Given the description of an element on the screen output the (x, y) to click on. 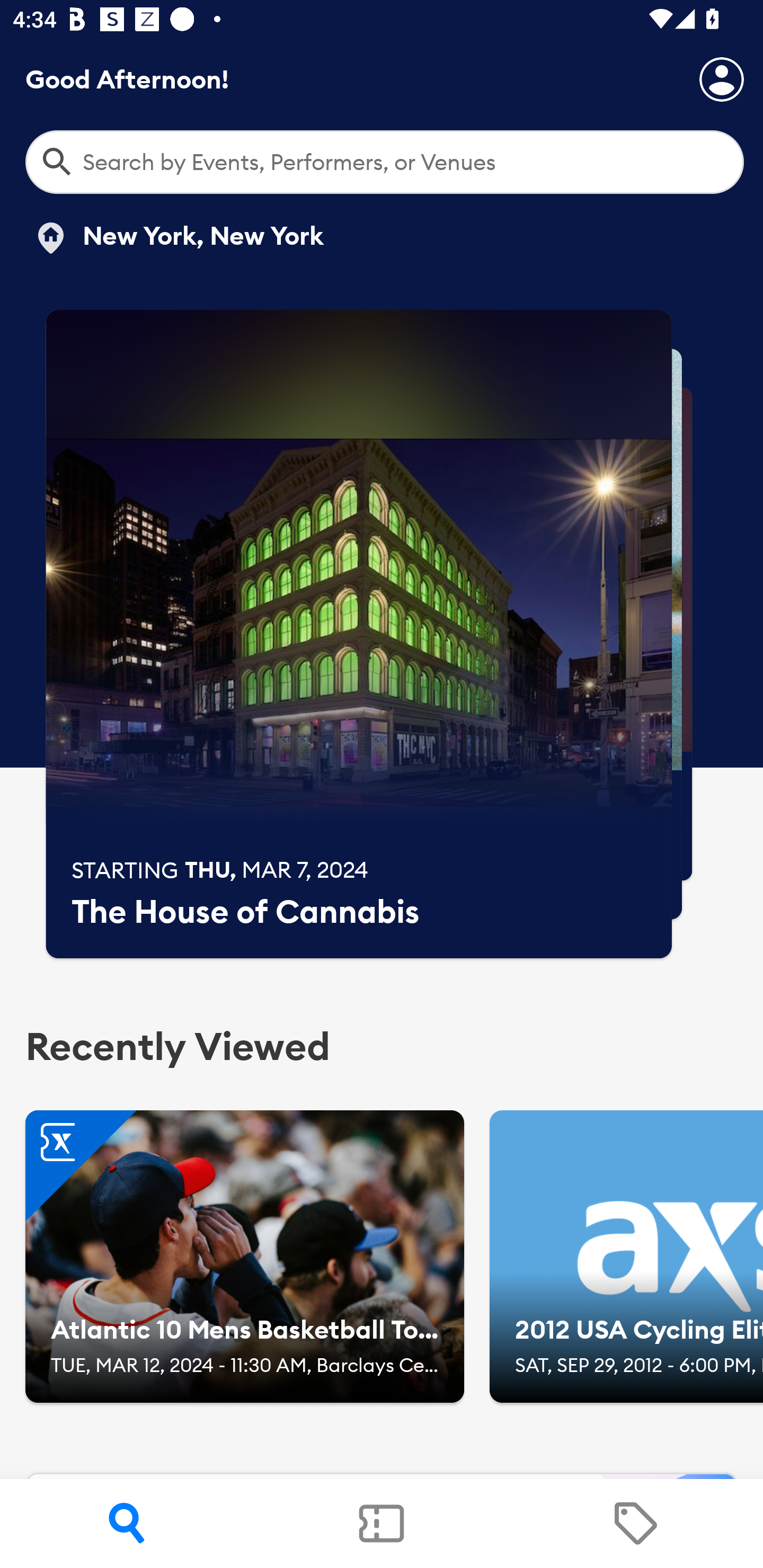
UserIcon (721, 78)
Search by Events, Performers, or Venues (384, 161)
New York, New York (177, 237)
STARTING THU, MAR 7, 2024 The House of Cannabis (358, 634)
Menu Item: Tickets (381, 1523)
Menu Item: Resale (635, 1523)
